Given the description of an element on the screen output the (x, y) to click on. 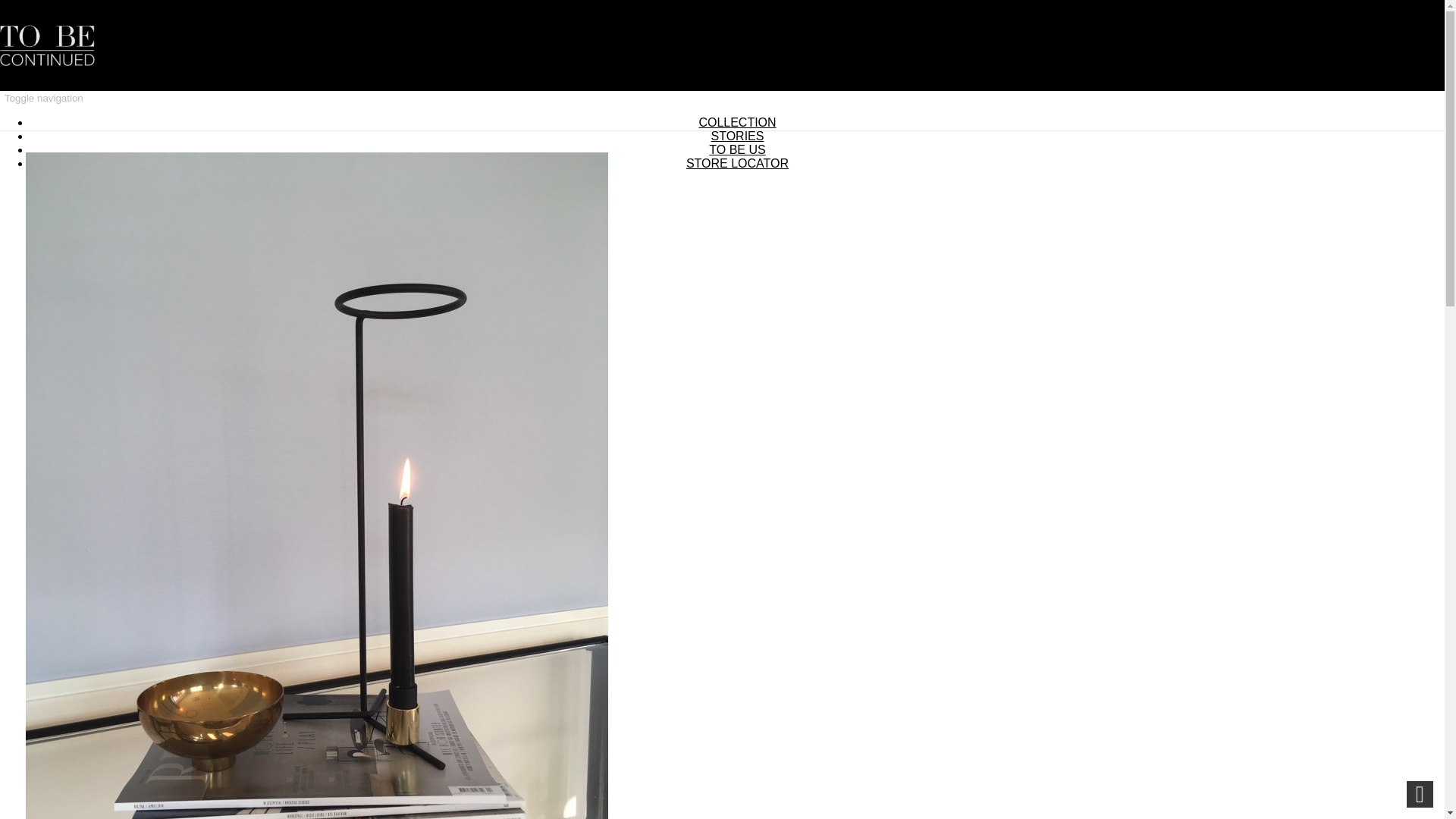
STORIES (737, 135)
STORE LOCATOR (737, 163)
Toggle navigation (43, 97)
STORIES (737, 135)
COLLECTION (737, 122)
TO BE US (737, 149)
TO BE US (737, 149)
COLLECTION (737, 122)
STORE LOCATOR (737, 163)
